Given the description of an element on the screen output the (x, y) to click on. 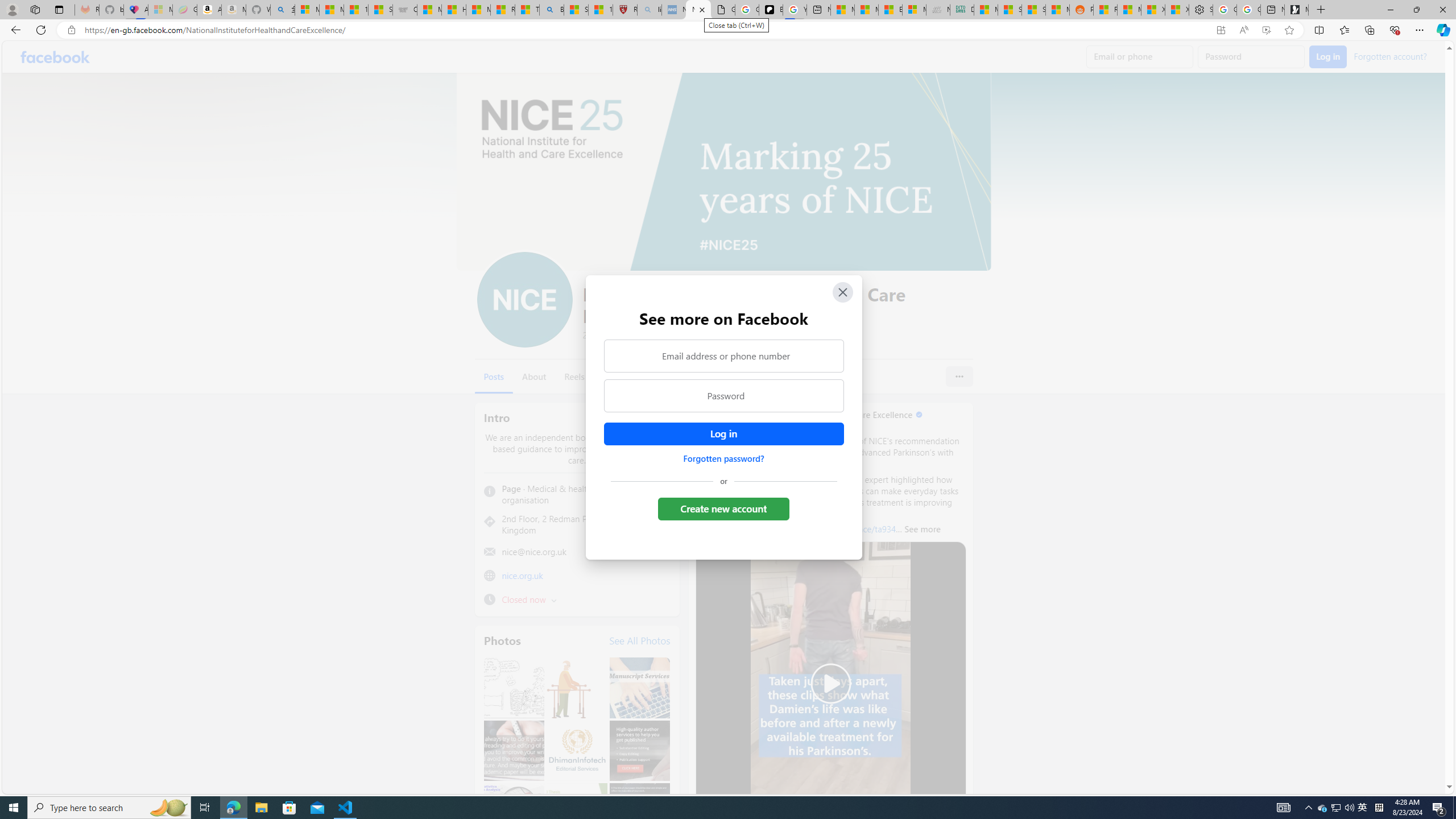
Create new account (724, 508)
Microsoft-Report a Concern to Bing - Sleeping (159, 9)
Google Analytics Opt-out Browser Add-on Download Page (722, 9)
Asthma Inhalers: Names and Types (135, 9)
Robert H. Shmerling, MD - Harvard Health (625, 9)
Combat Siege (404, 9)
Science - MSN (575, 9)
Entertainment - MSN (890, 9)
App available. Install Facebook (1220, 29)
